Given the description of an element on the screen output the (x, y) to click on. 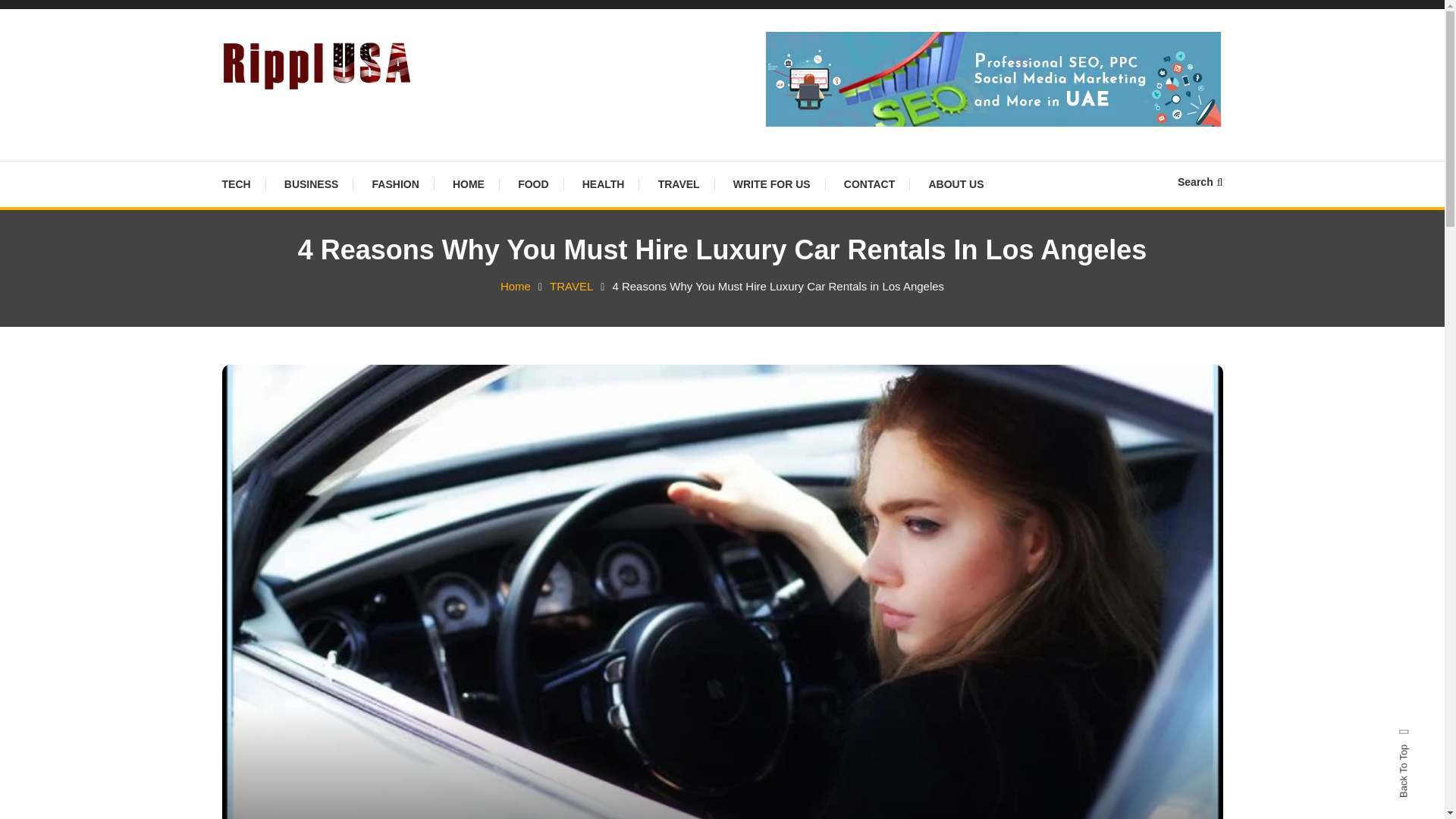
CONTACT (869, 184)
TRAVEL (571, 286)
Rippl USA (288, 112)
ABOUT US (955, 184)
Home (515, 286)
HOME (468, 184)
HEALTH (603, 184)
TRAVEL (678, 184)
BUSINESS (311, 184)
TECH (242, 184)
